Given the description of an element on the screen output the (x, y) to click on. 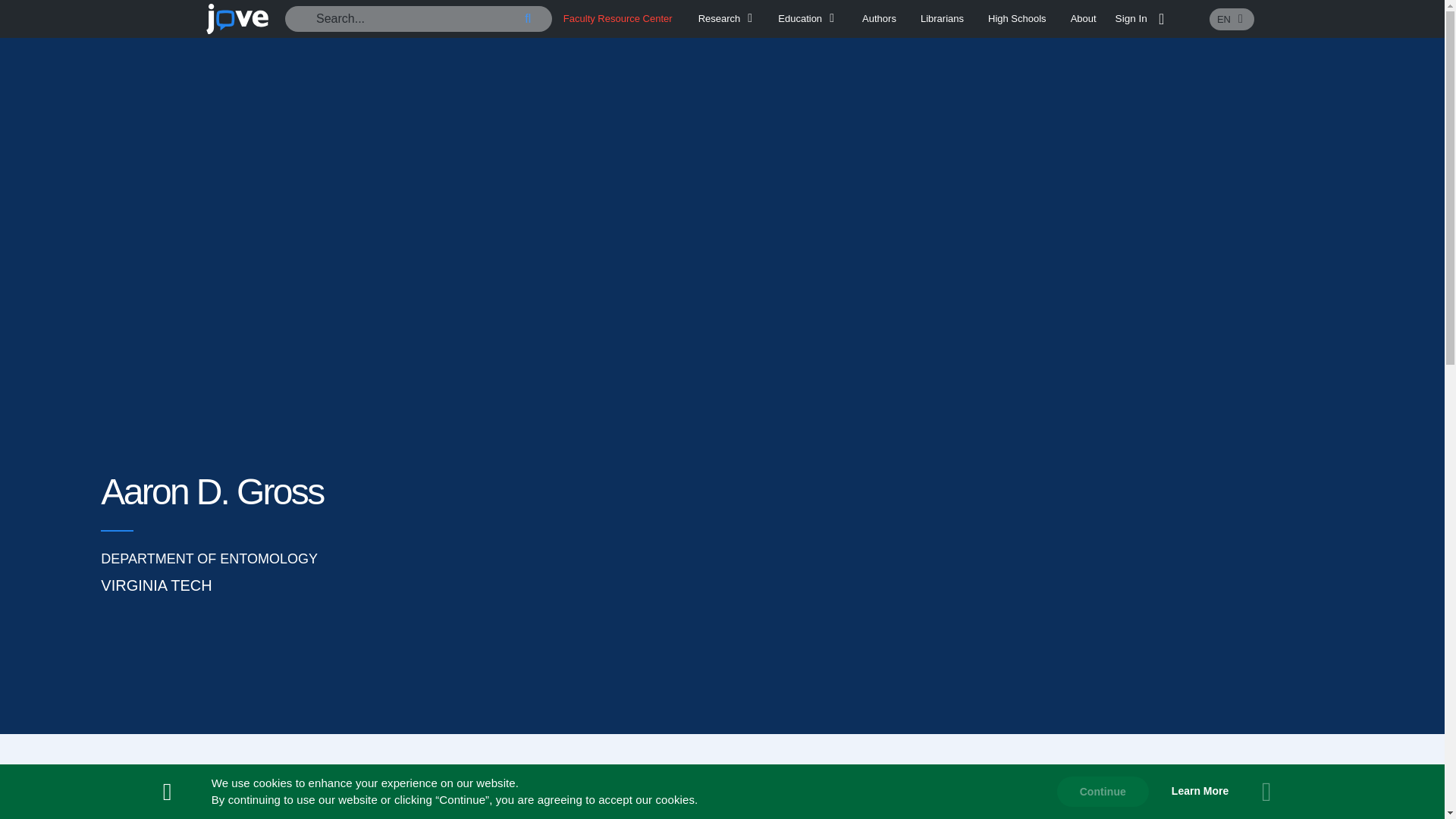
Education (807, 18)
Librarians (941, 18)
High Schools (1017, 18)
BIOGRAPHY (722, 800)
EN (1231, 18)
Authors (878, 18)
About (1083, 18)
Faculty Resource Center (617, 18)
Research (727, 18)
